Given the description of an element on the screen output the (x, y) to click on. 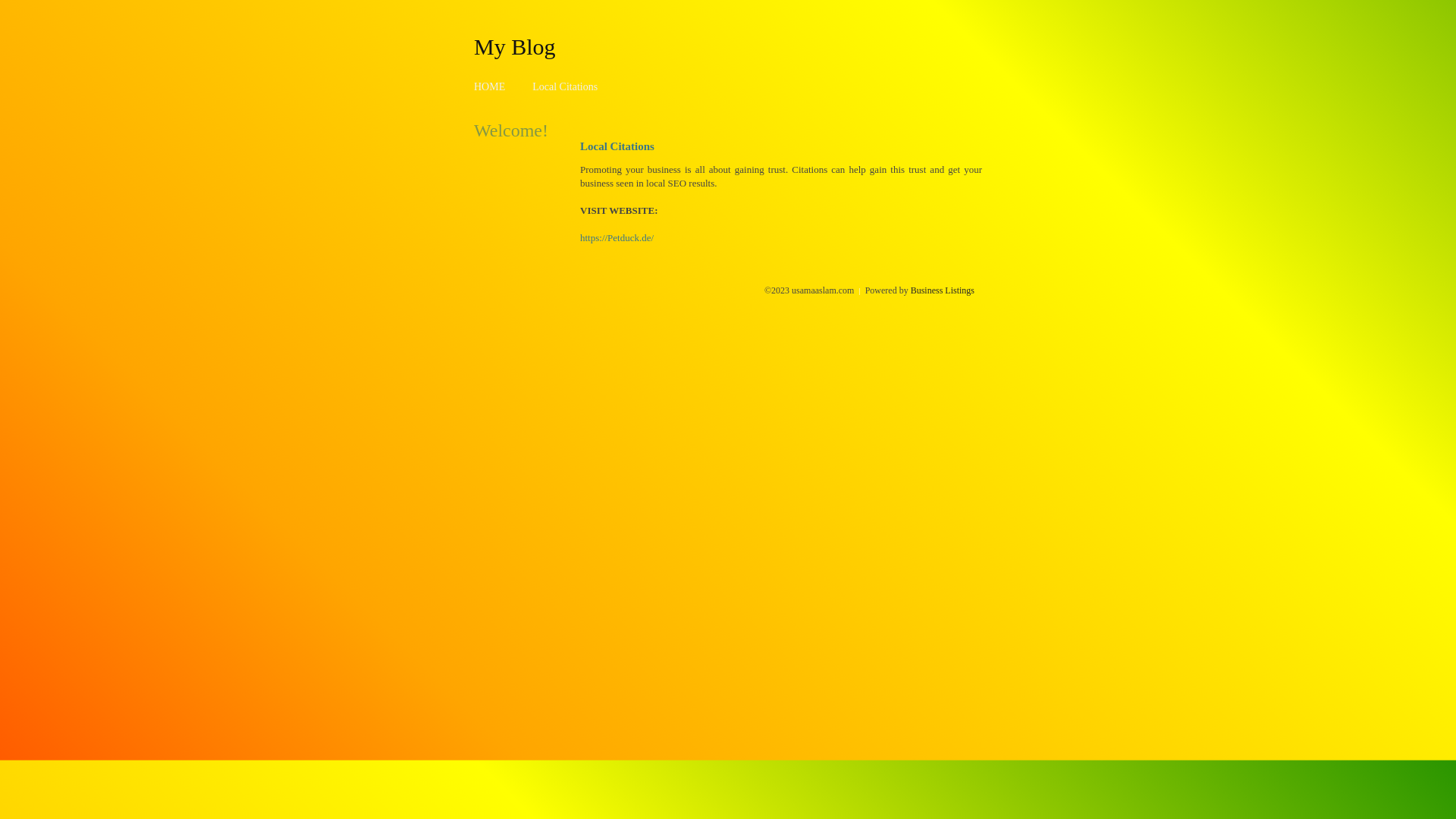
HOME Element type: text (489, 86)
My Blog Element type: text (514, 46)
Business Listings Element type: text (942, 290)
https://Petduck.de/ Element type: text (616, 237)
Local Citations Element type: text (564, 86)
